Given the description of an element on the screen output the (x, y) to click on. 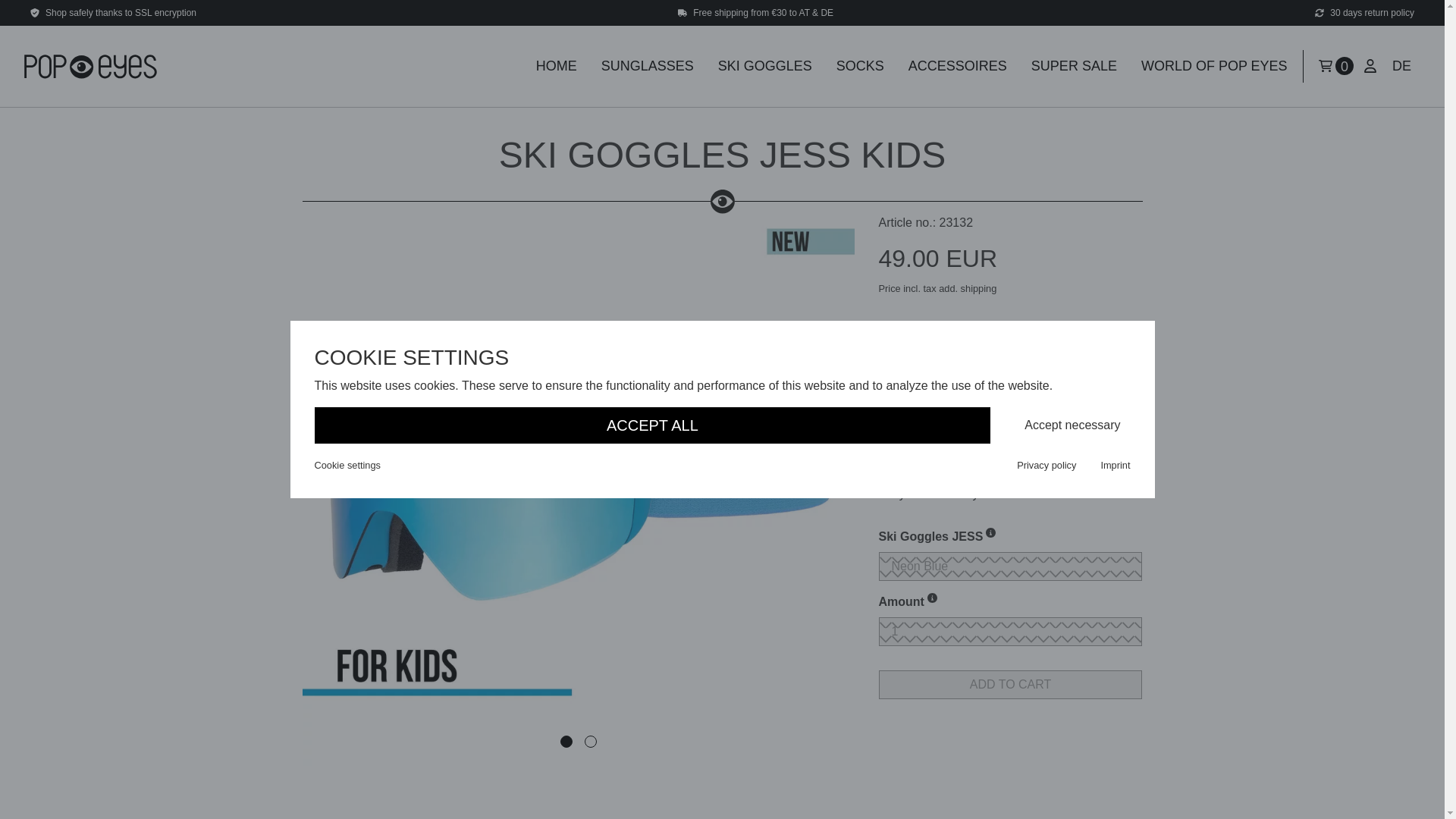
ACCESSOIRES (957, 65)
HOME (556, 65)
SOCKS (860, 65)
SUNGLASSES (647, 65)
SUPER SALE (1074, 65)
WORLD OF POP EYES (1214, 65)
